Given the description of an element on the screen output the (x, y) to click on. 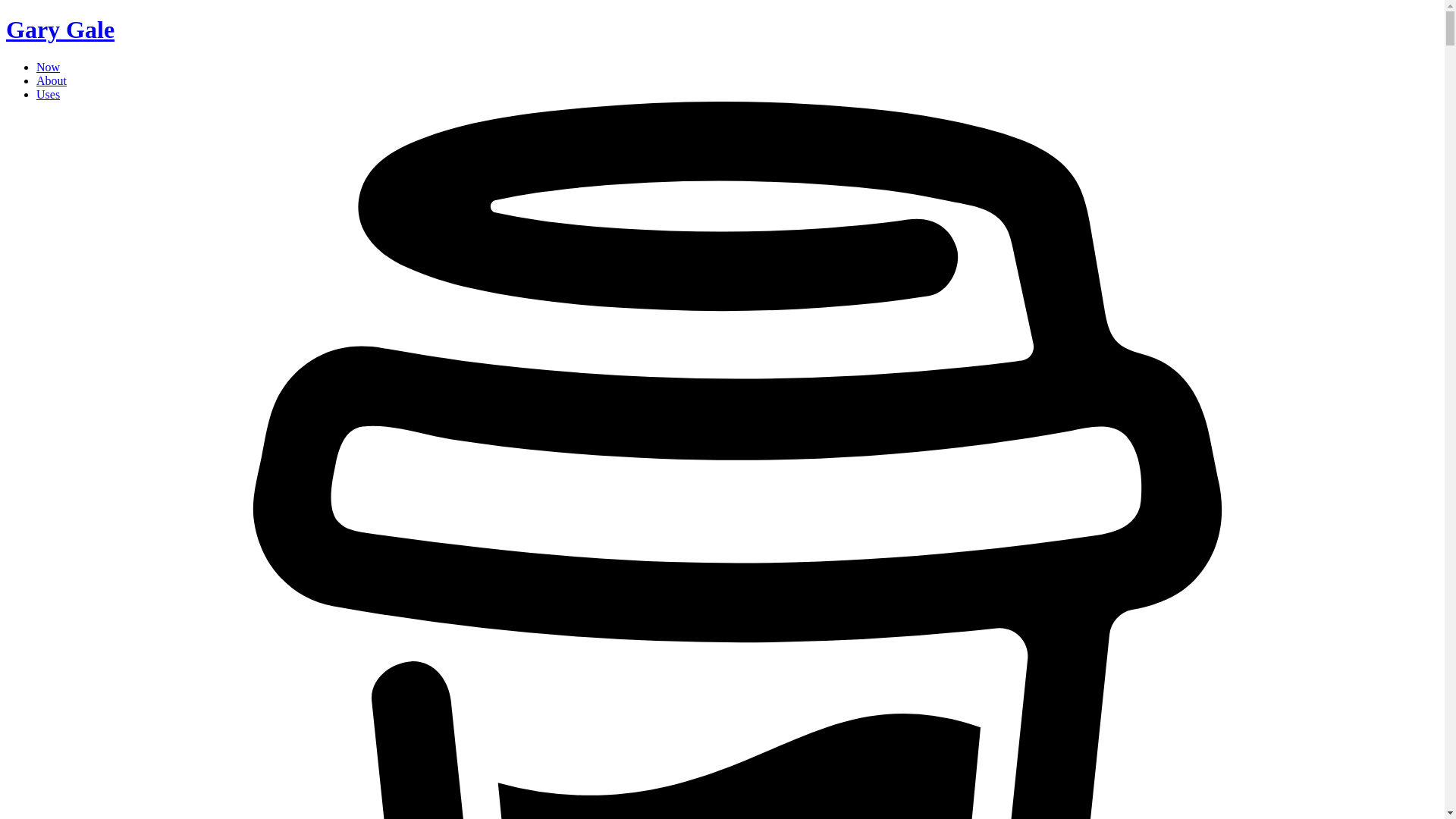
About (51, 80)
Uses (47, 93)
Now (47, 66)
Gary Gale (60, 29)
